Given the description of an element on the screen output the (x, y) to click on. 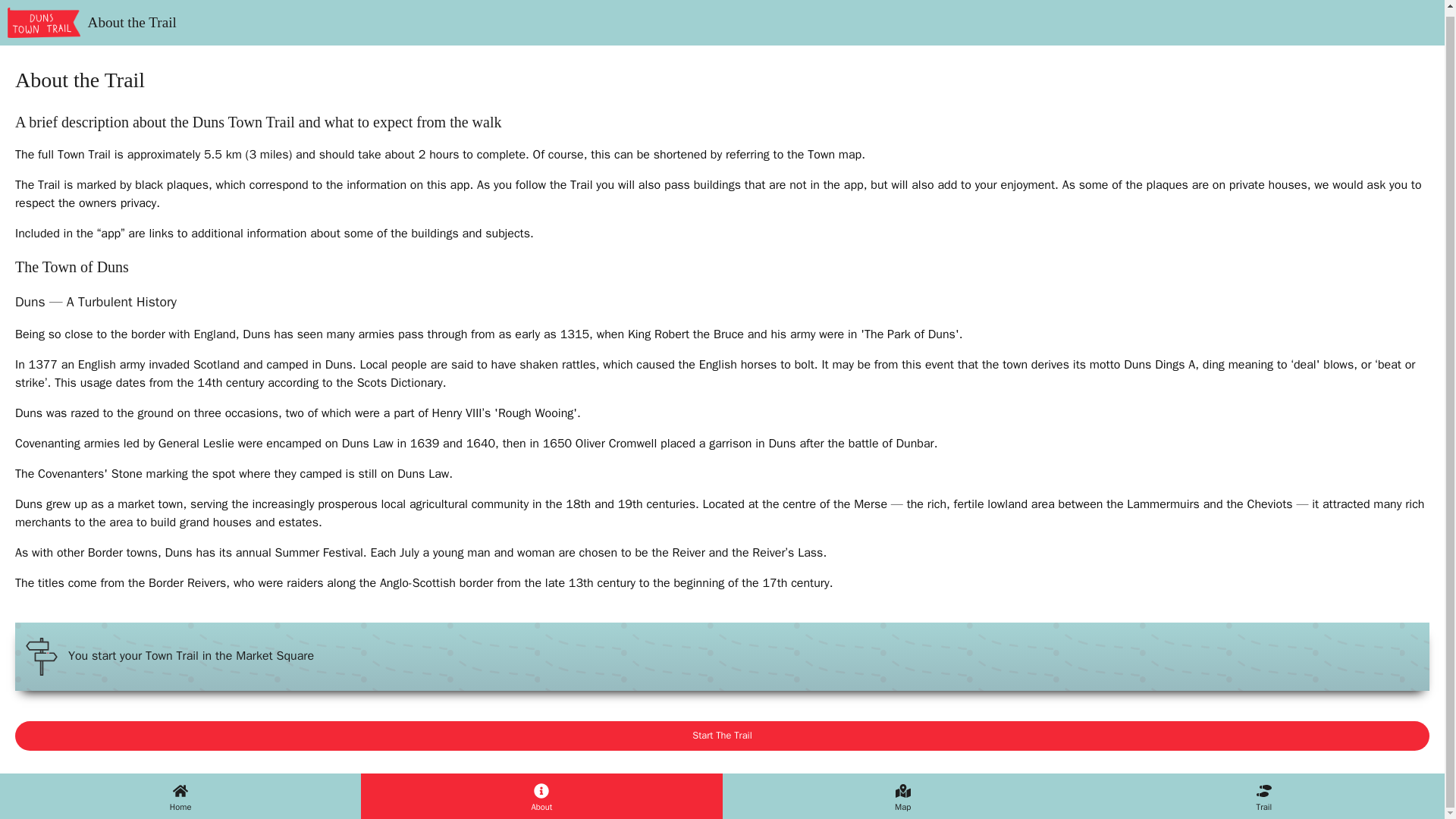
Map (902, 791)
Start The Trail (721, 736)
About (541, 791)
Home (180, 791)
About the Trail (88, 20)
